Given the description of an element on the screen output the (x, y) to click on. 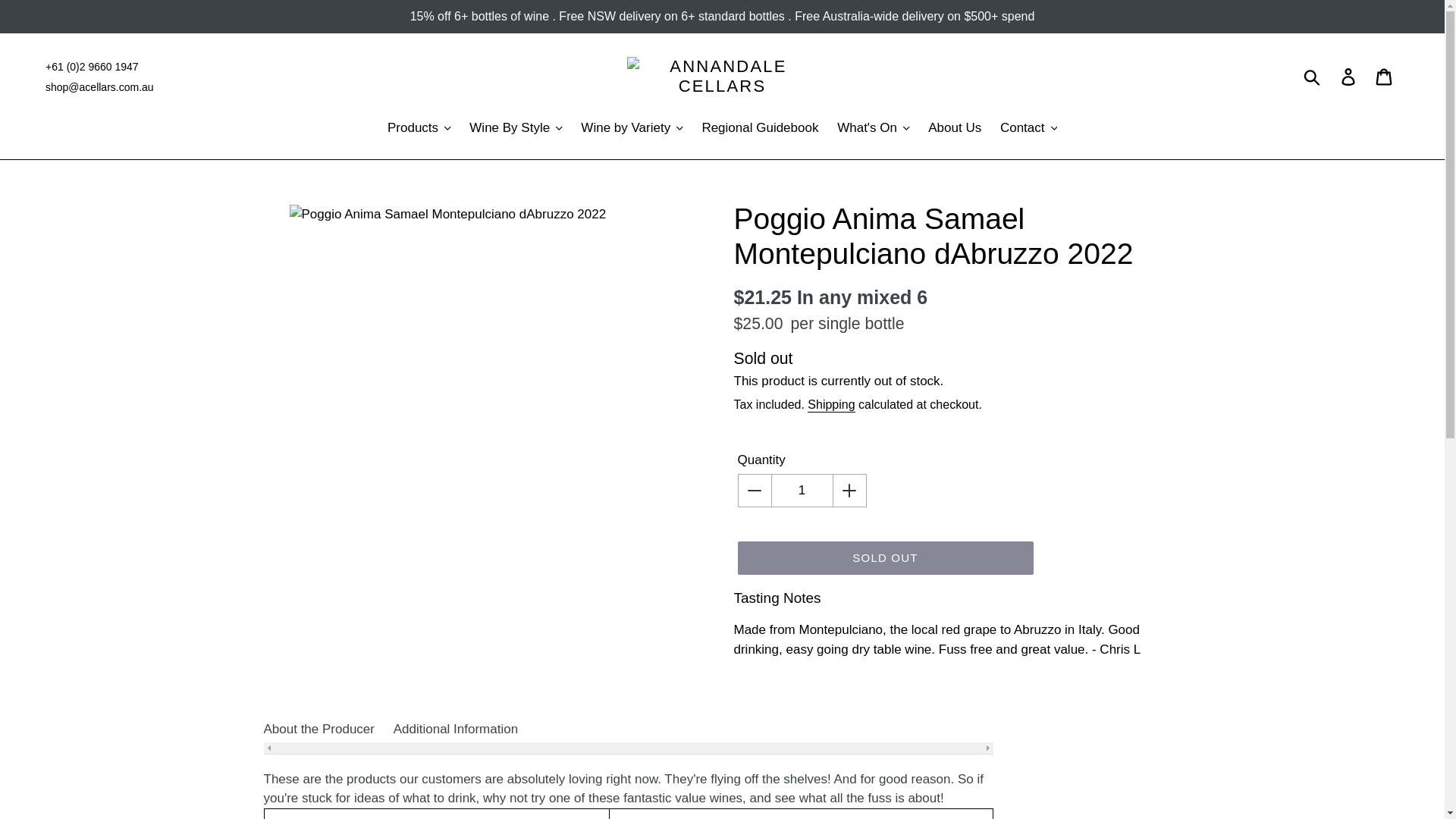
Cart (1385, 76)
Submit (1313, 76)
1 (801, 490)
Log in (1349, 76)
